Given the description of an element on the screen output the (x, y) to click on. 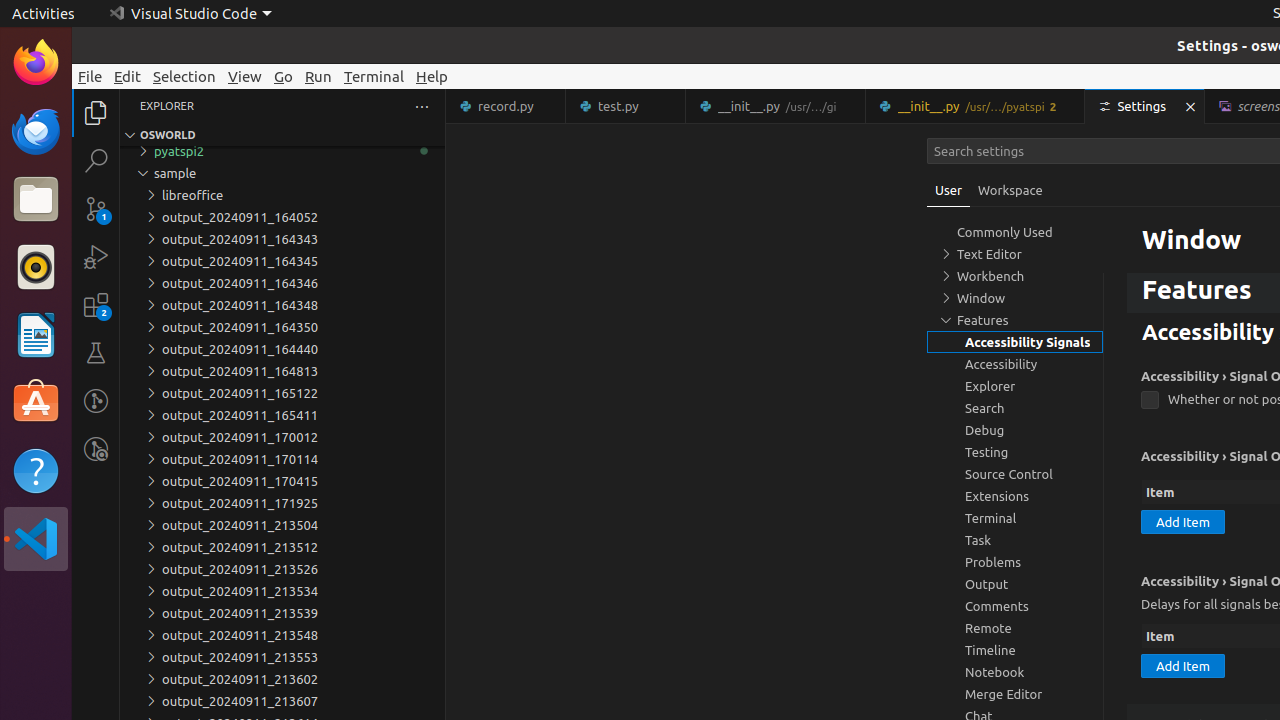
sample Element type: tree-item (282, 173)
output_20240911_213607 Element type: tree-item (282, 701)
Problems, group Element type: tree-item (1015, 562)
GitLens Inspect Element type: page-tab (96, 449)
output_20240911_213548 Element type: tree-item (282, 635)
